Given the description of an element on the screen output the (x, y) to click on. 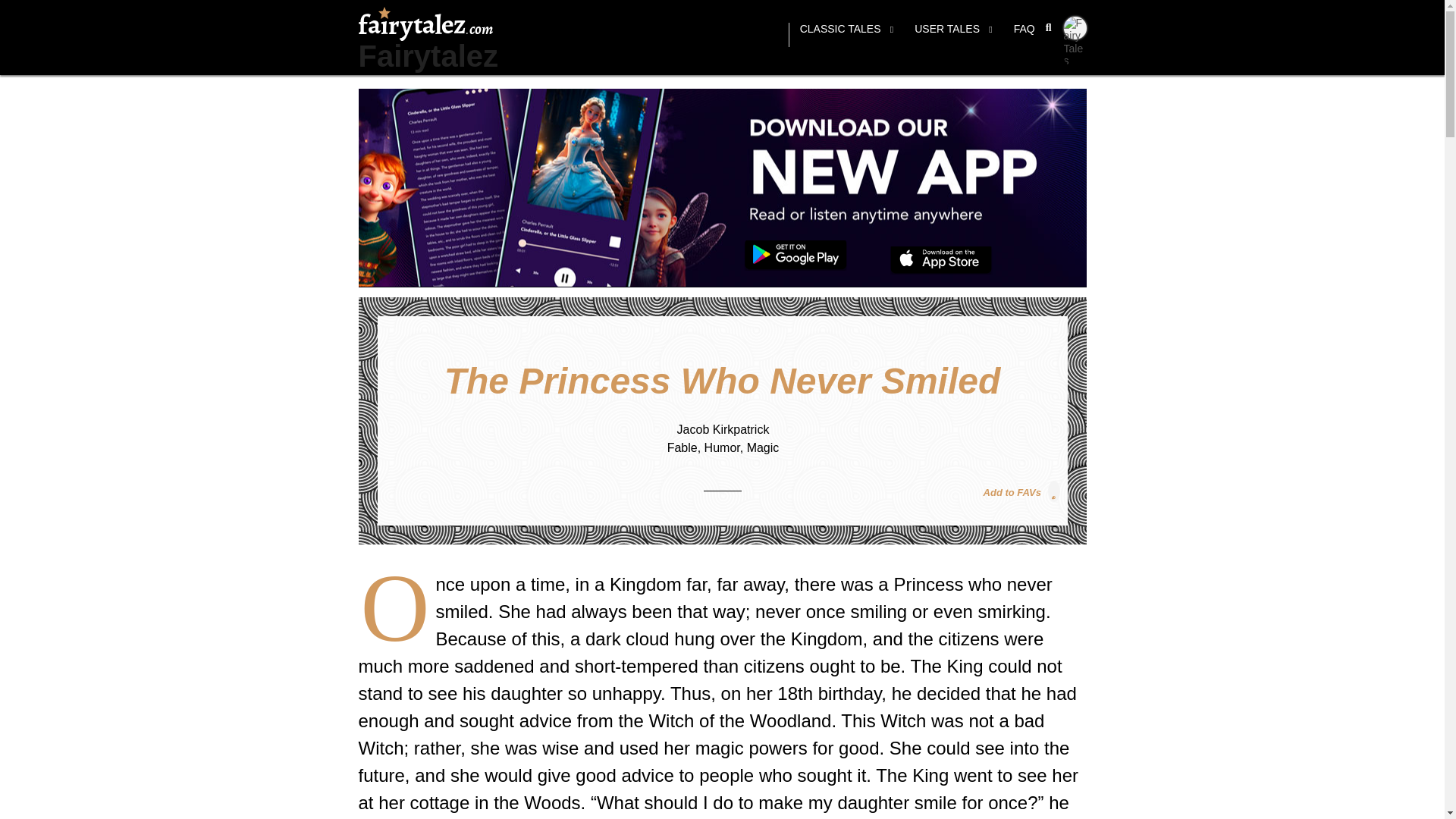
Add to FAVs (1021, 490)
View all items in Humor (721, 447)
FAQ (1024, 34)
Fairytalez (427, 55)
Fairytalez audio book ios app (940, 260)
USER TALES (953, 34)
View all items in Fable (681, 447)
CLASSIC TALES (846, 34)
Jacob Kirkpatrick (723, 429)
Humor (721, 447)
Fable (681, 447)
View all items in Magic (762, 447)
Fairytalez audio book android app (795, 255)
Magic (762, 447)
